Given the description of an element on the screen output the (x, y) to click on. 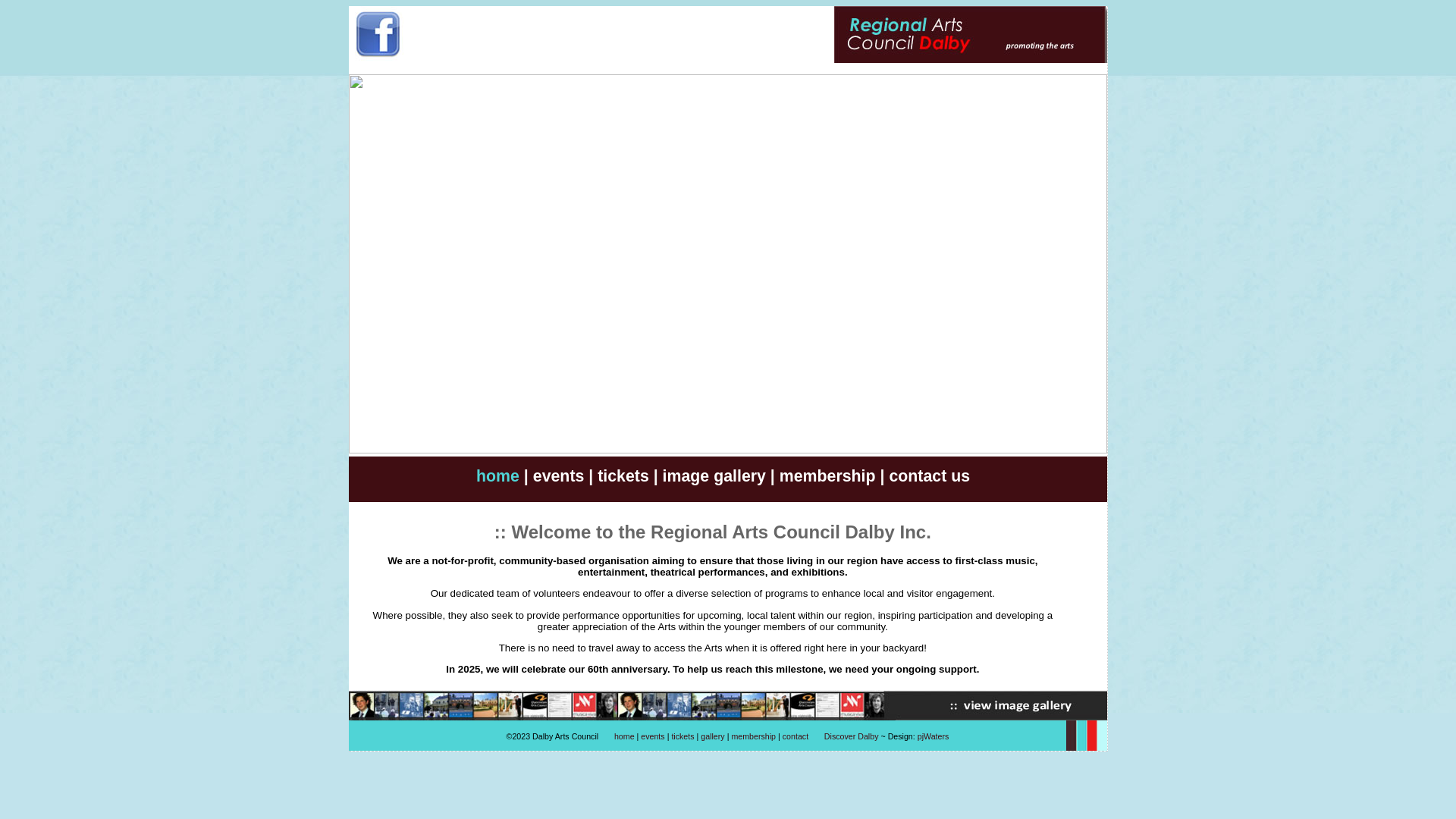
membership Element type: text (753, 735)
events Element type: text (652, 735)
image gallery Element type: text (713, 476)
events Element type: text (558, 476)
membership Element type: text (827, 476)
Discover Dalby Element type: text (851, 735)
home Element type: text (624, 735)
tickets Element type: text (623, 476)
pjWaters Element type: text (933, 735)
gallery Element type: text (712, 735)
contact us Element type: text (928, 476)
home Element type: text (497, 476)
contact Element type: text (795, 735)
tickets Element type: text (682, 735)
